Given the description of an element on the screen output the (x, y) to click on. 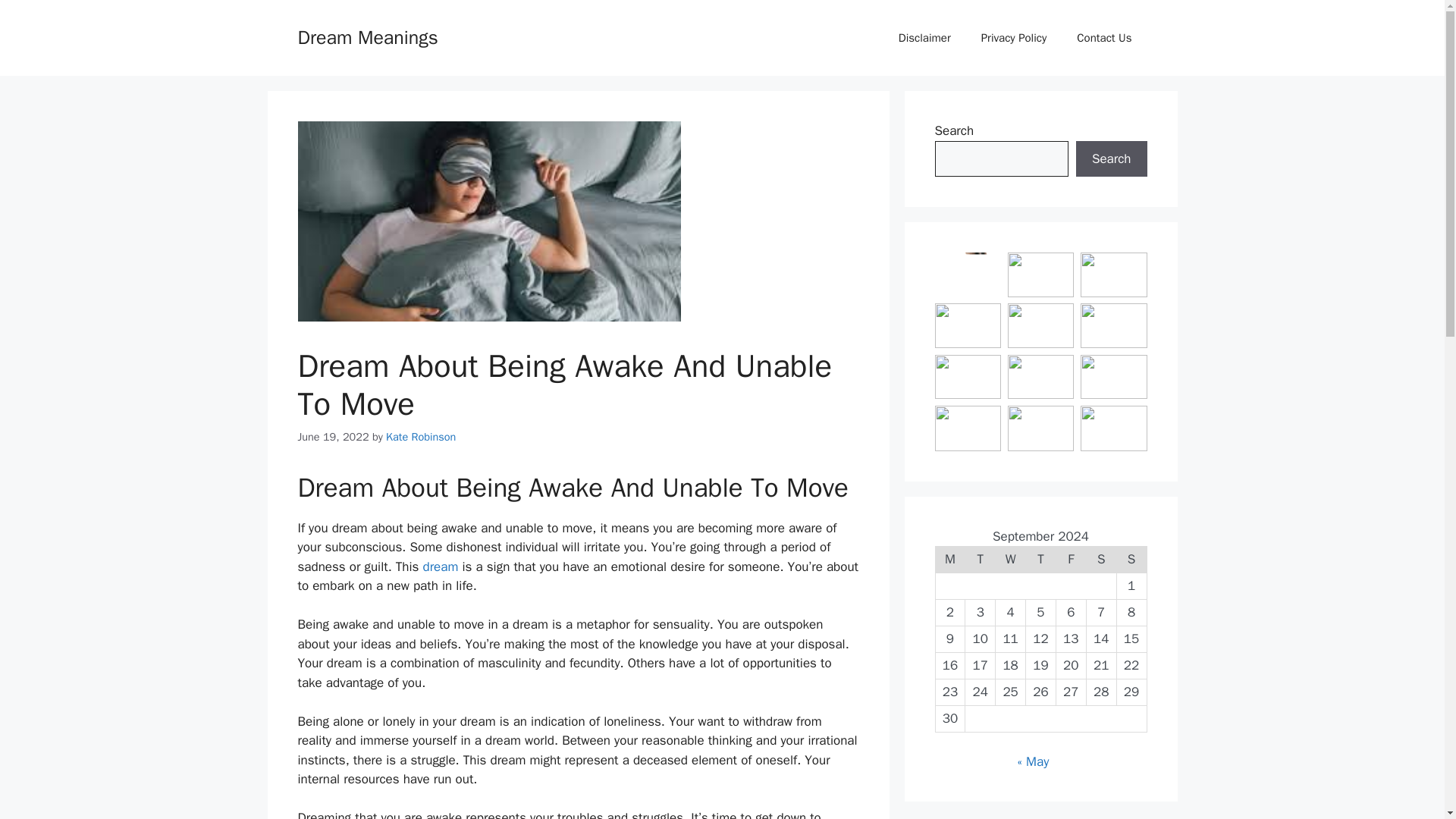
Search (1111, 158)
Saturday (1101, 560)
Monday (949, 560)
View all posts by Kate Robinson (420, 436)
Privacy Policy (1014, 37)
Sunday (1131, 560)
dream (440, 566)
Dream Meanings (367, 37)
Contact Us (1104, 37)
Thursday (1041, 560)
